Given the description of an element on the screen output the (x, y) to click on. 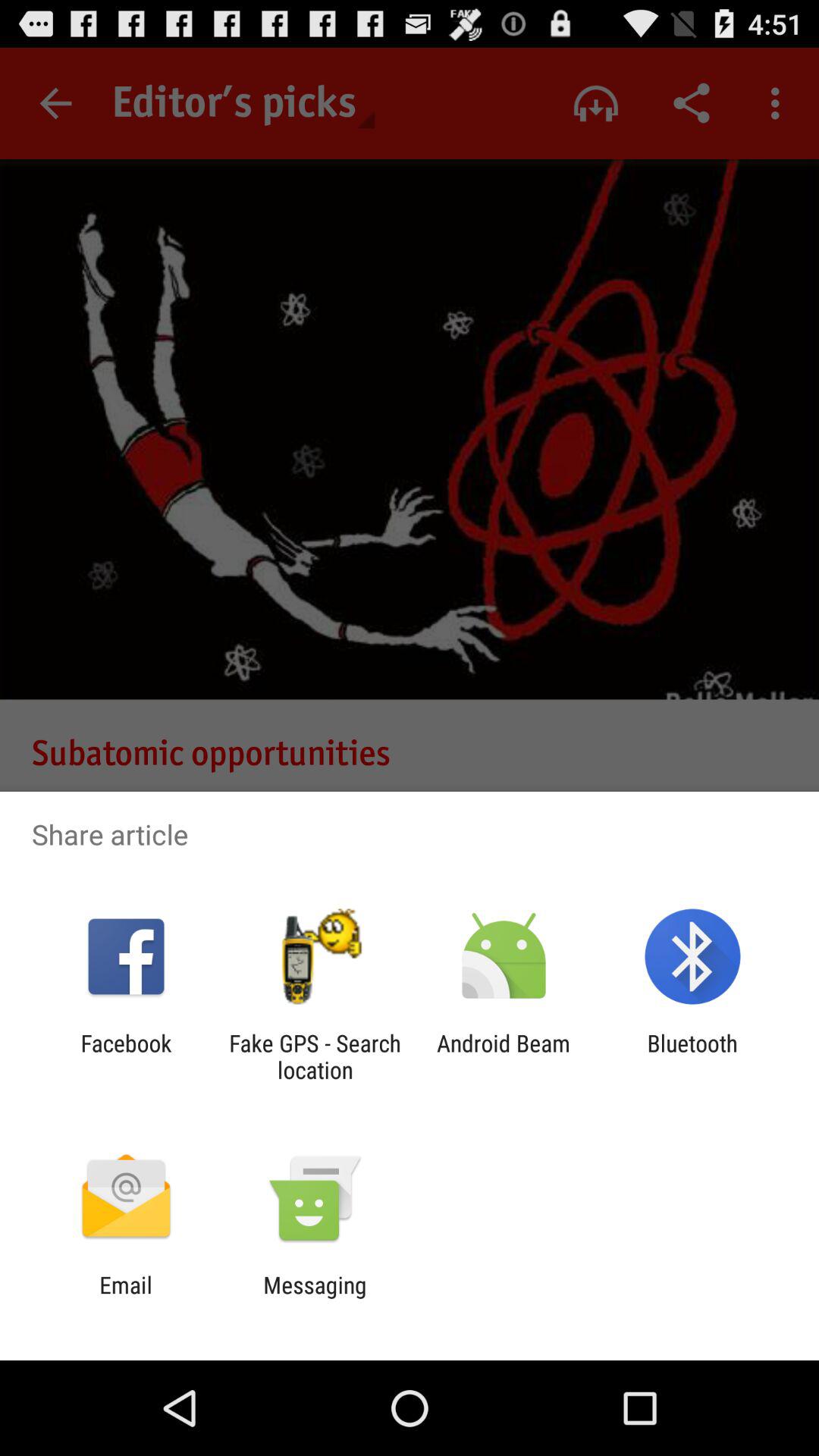
turn off icon to the left of the messaging (125, 1298)
